Given the description of an element on the screen output the (x, y) to click on. 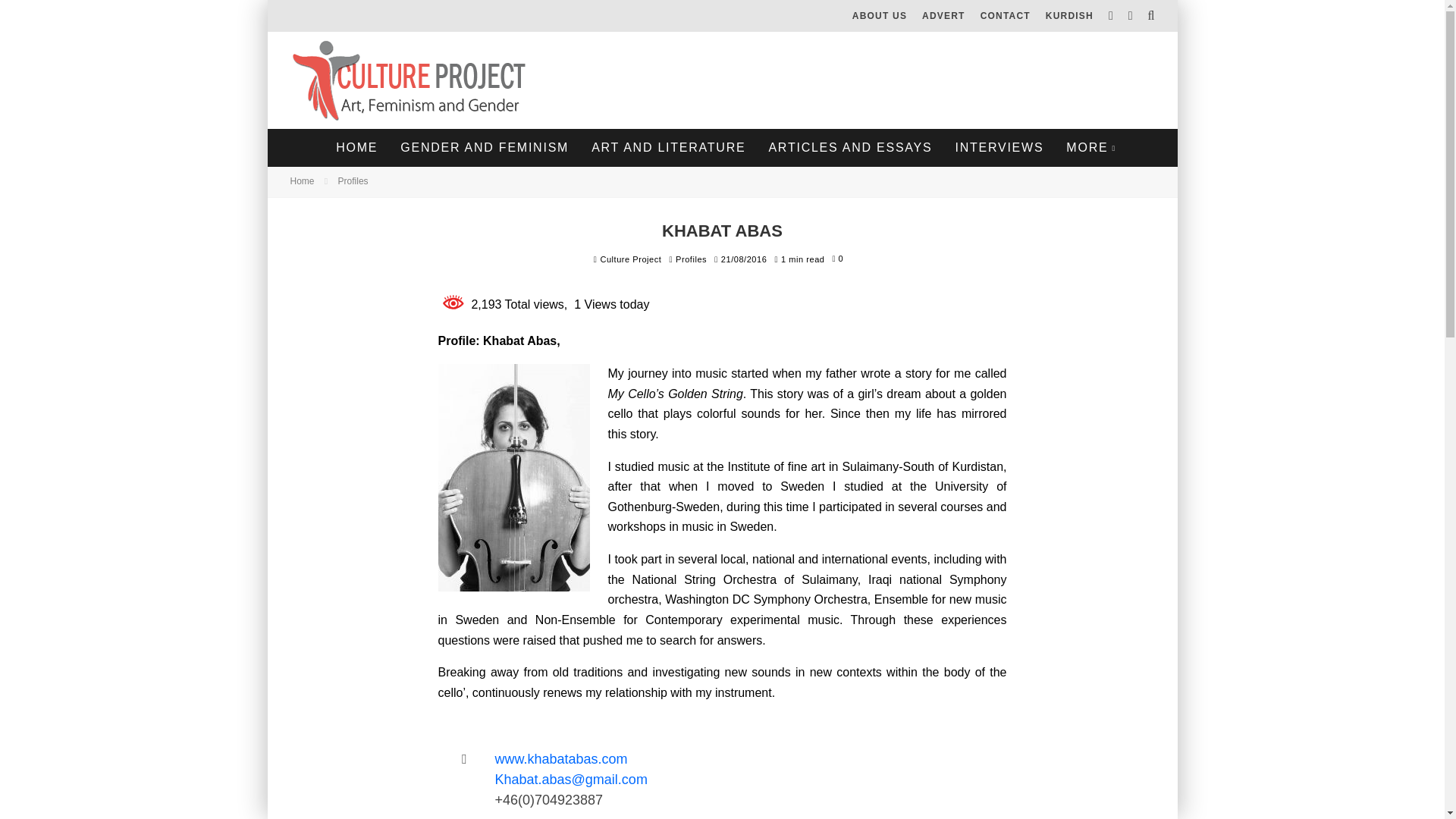
ABOUT US (879, 15)
HOME (356, 147)
CONTACT (1005, 15)
GENDER AND FEMINISM (483, 147)
KURDISH (1069, 15)
ADVERT (943, 15)
ART AND LITERATURE (668, 147)
